Given the description of an element on the screen output the (x, y) to click on. 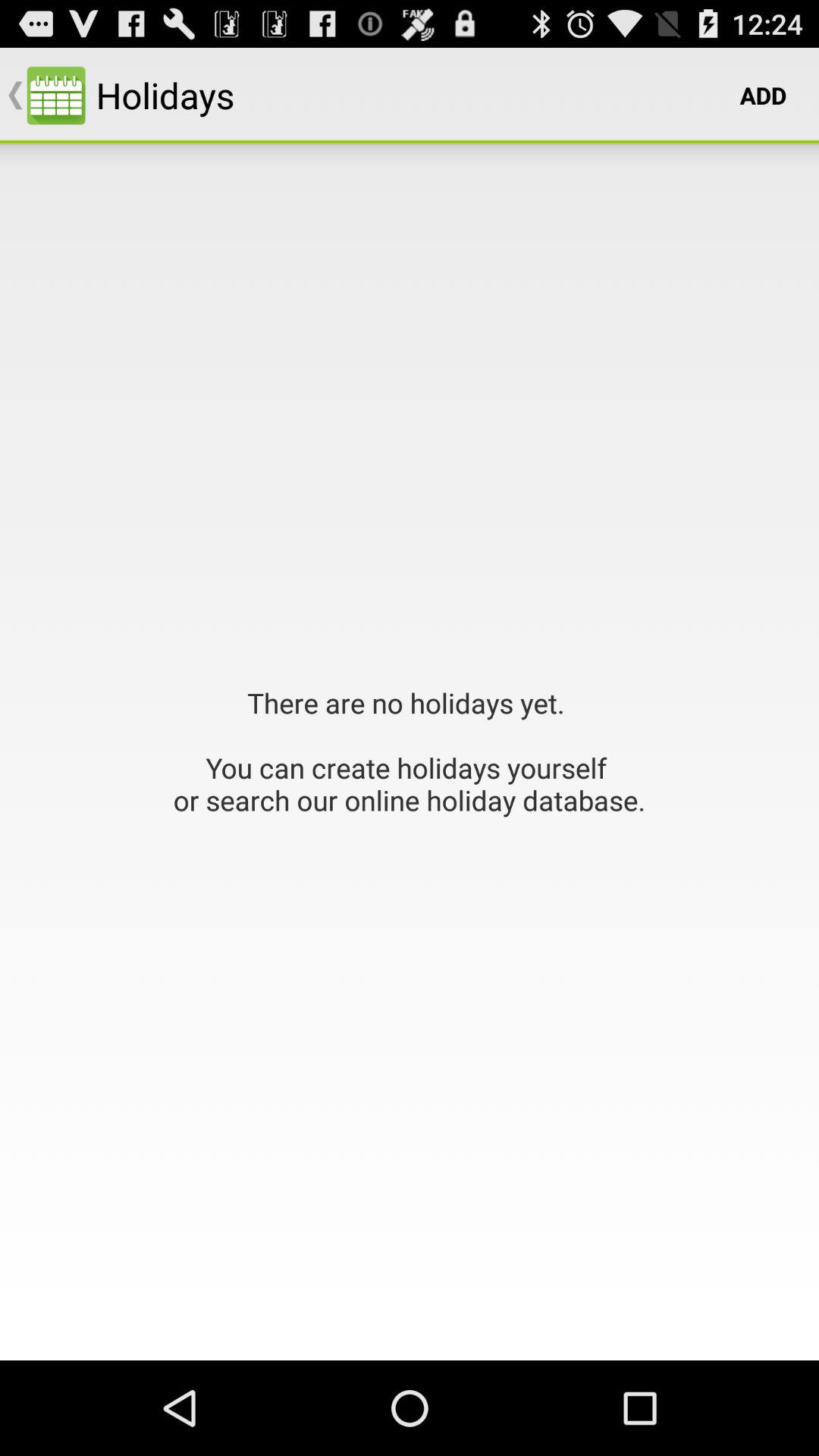
turn on app next to holidays item (763, 95)
